Given the description of an element on the screen output the (x, y) to click on. 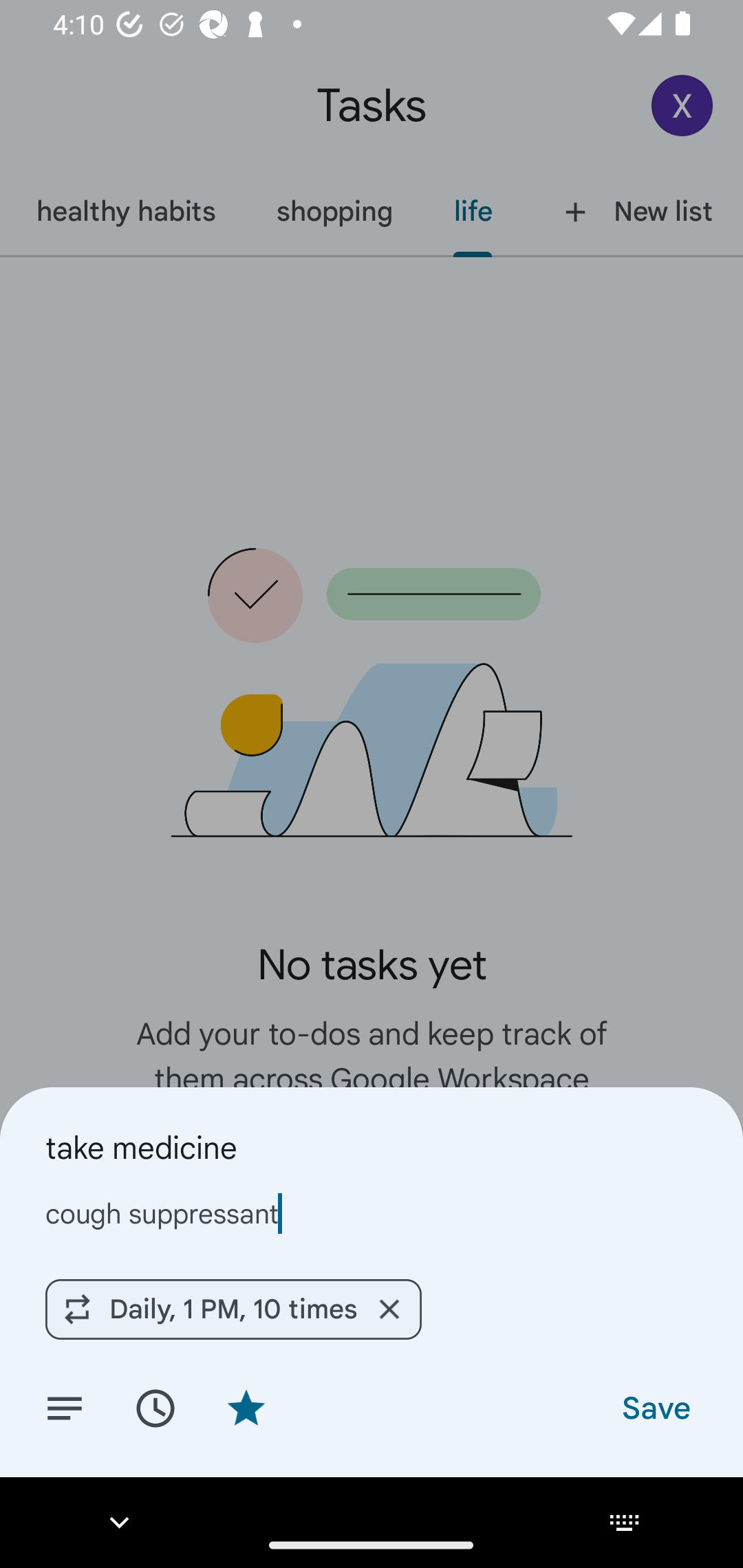
take medicine (371, 1147)
cough suppressant (371, 1213)
Daily, 1 PM, 10 times Remove Daily, 1 PM, 10 times (233, 1308)
Save (655, 1407)
Add details (64, 1407)
Set date/time (154, 1407)
Remove star (245, 1407)
